Given the description of an element on the screen output the (x, y) to click on. 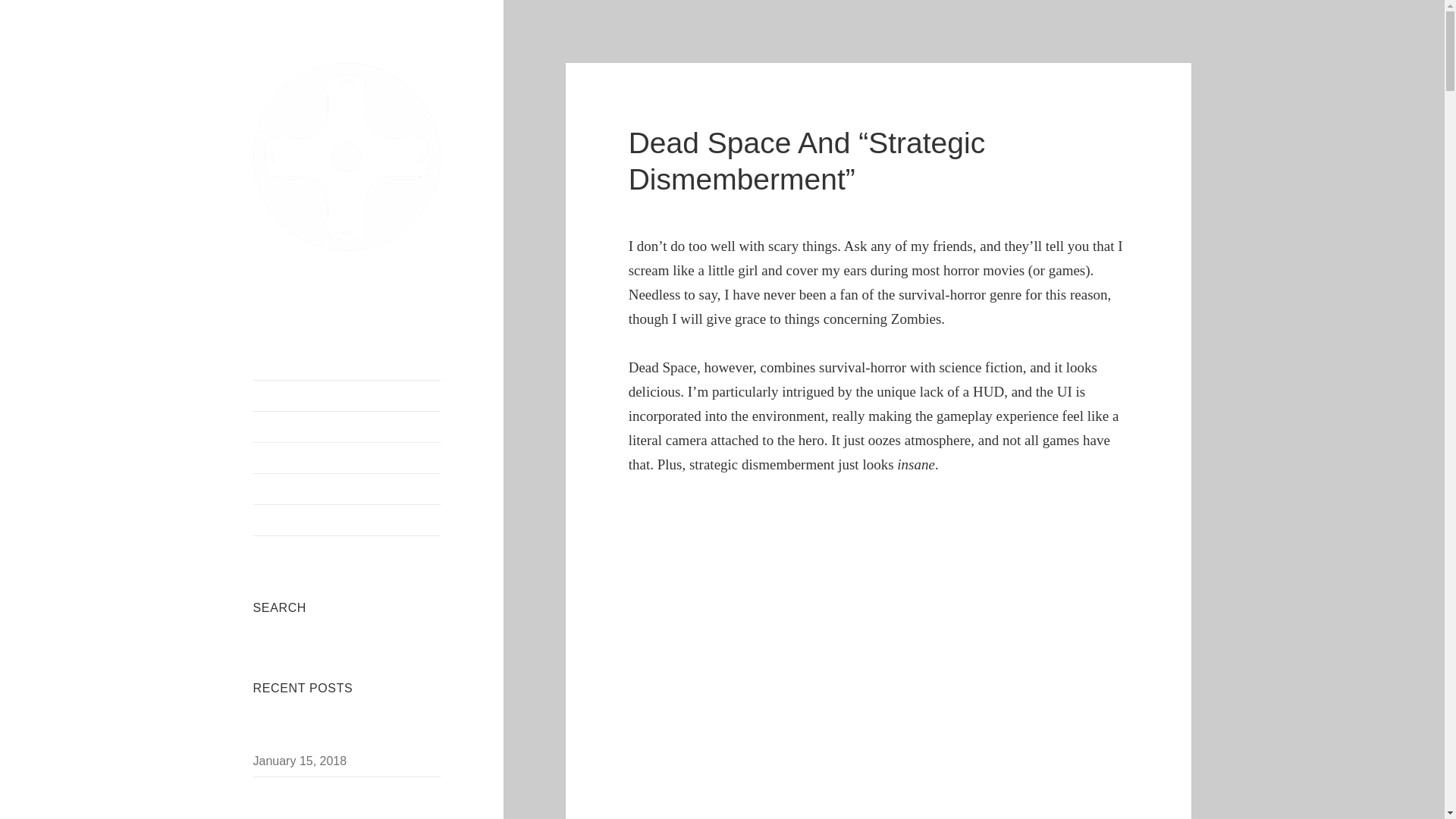
About (347, 426)
Reviews (347, 489)
The GamerSushi Show, Ep 95: Super Sushian Odyssey (336, 733)
GamerSushi (346, 262)
Home (347, 395)
The GamerSushi Show (347, 458)
Features (347, 520)
